Given the description of an element on the screen output the (x, y) to click on. 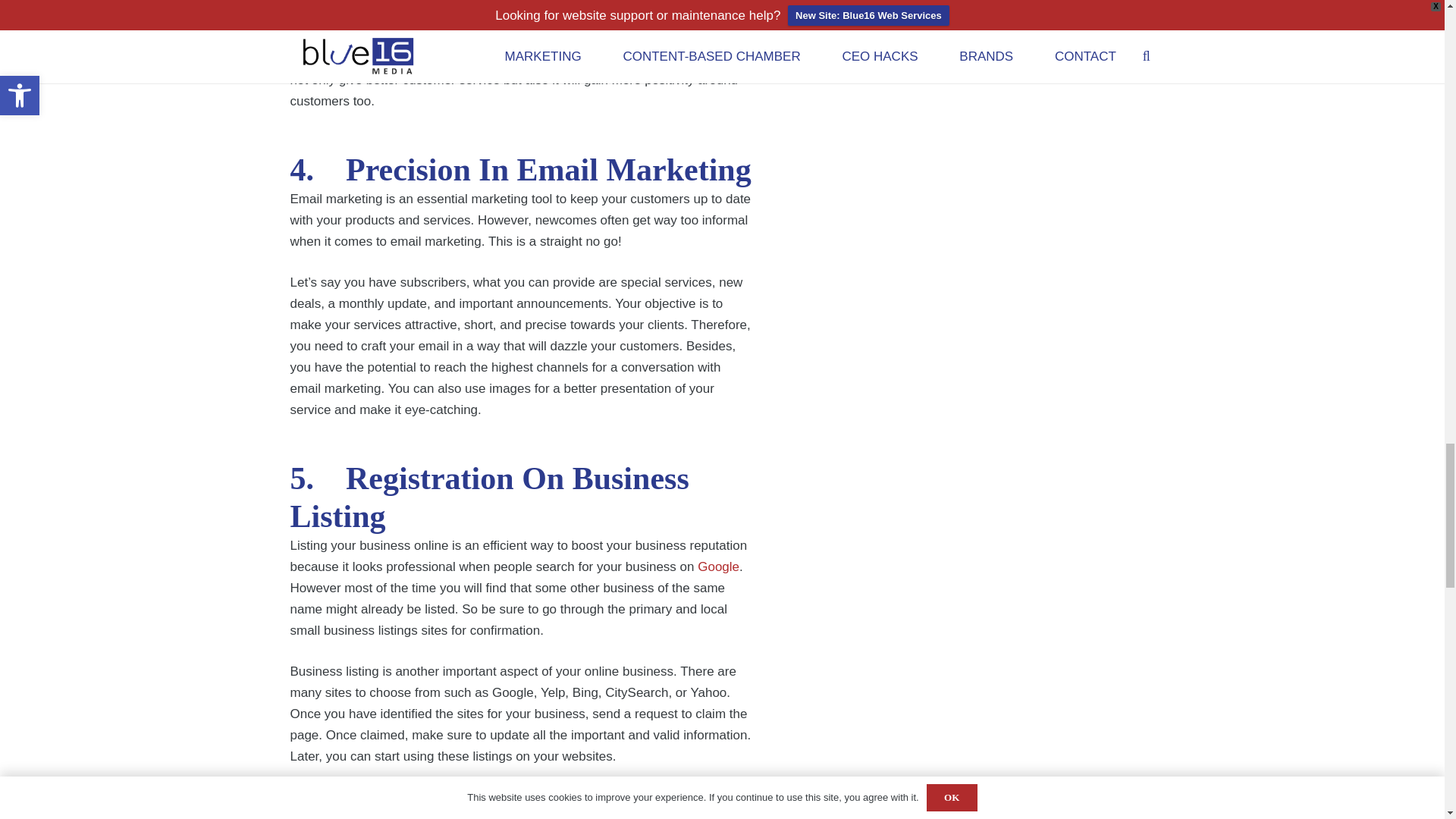
Google (718, 566)
